Given the description of an element on the screen output the (x, y) to click on. 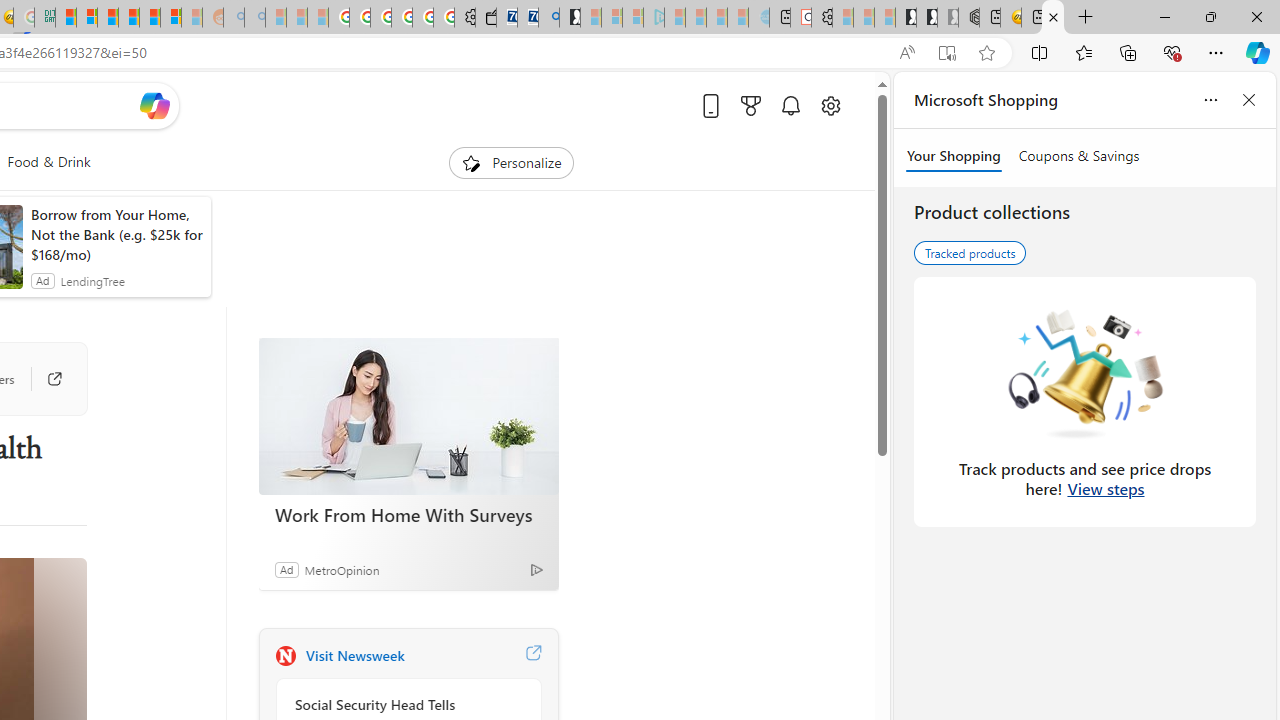
Microsoft Start - Sleeping (716, 17)
Copilot (Ctrl+Shift+.) (1258, 52)
Add this page to favorites (Ctrl+D) (986, 53)
Open Copilot (155, 105)
Browser essentials (1171, 52)
New Tab (1085, 17)
DITOGAMES AG Imprint (44, 17)
Restore (1210, 16)
Wallet (486, 17)
Read aloud this page (Ctrl+Shift+U) (906, 53)
